Given the description of an element on the screen output the (x, y) to click on. 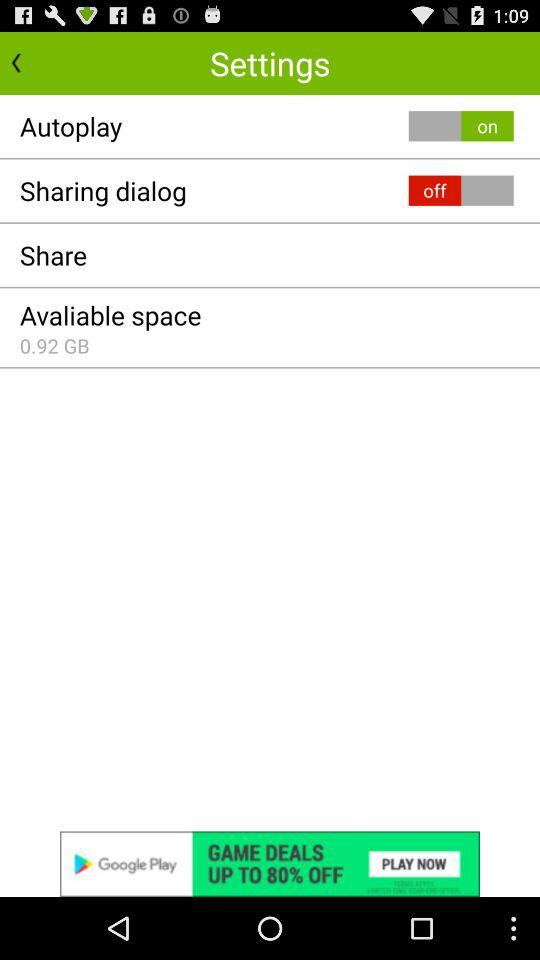
go back (36, 62)
